Given the description of an element on the screen output the (x, y) to click on. 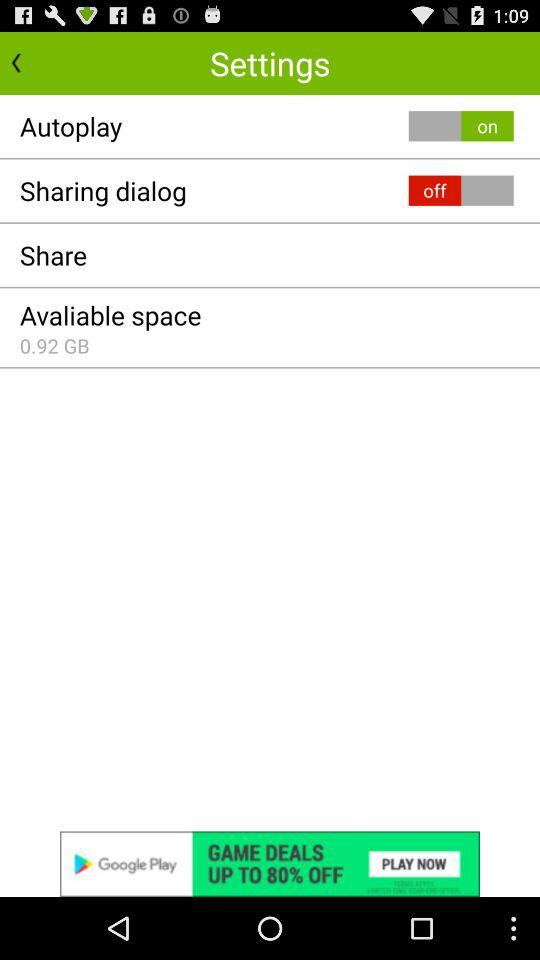
go back (36, 62)
